Given the description of an element on the screen output the (x, y) to click on. 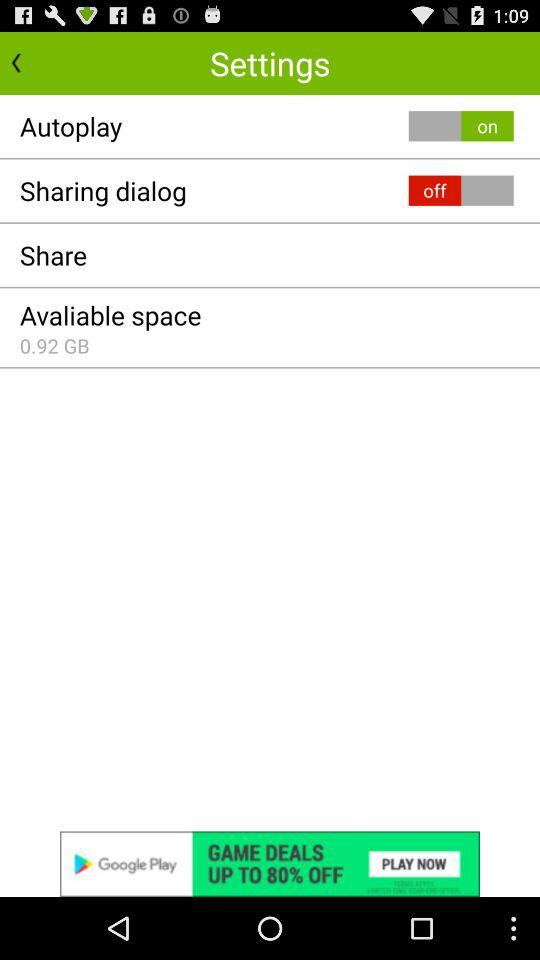
go back (36, 62)
